Given the description of an element on the screen output the (x, y) to click on. 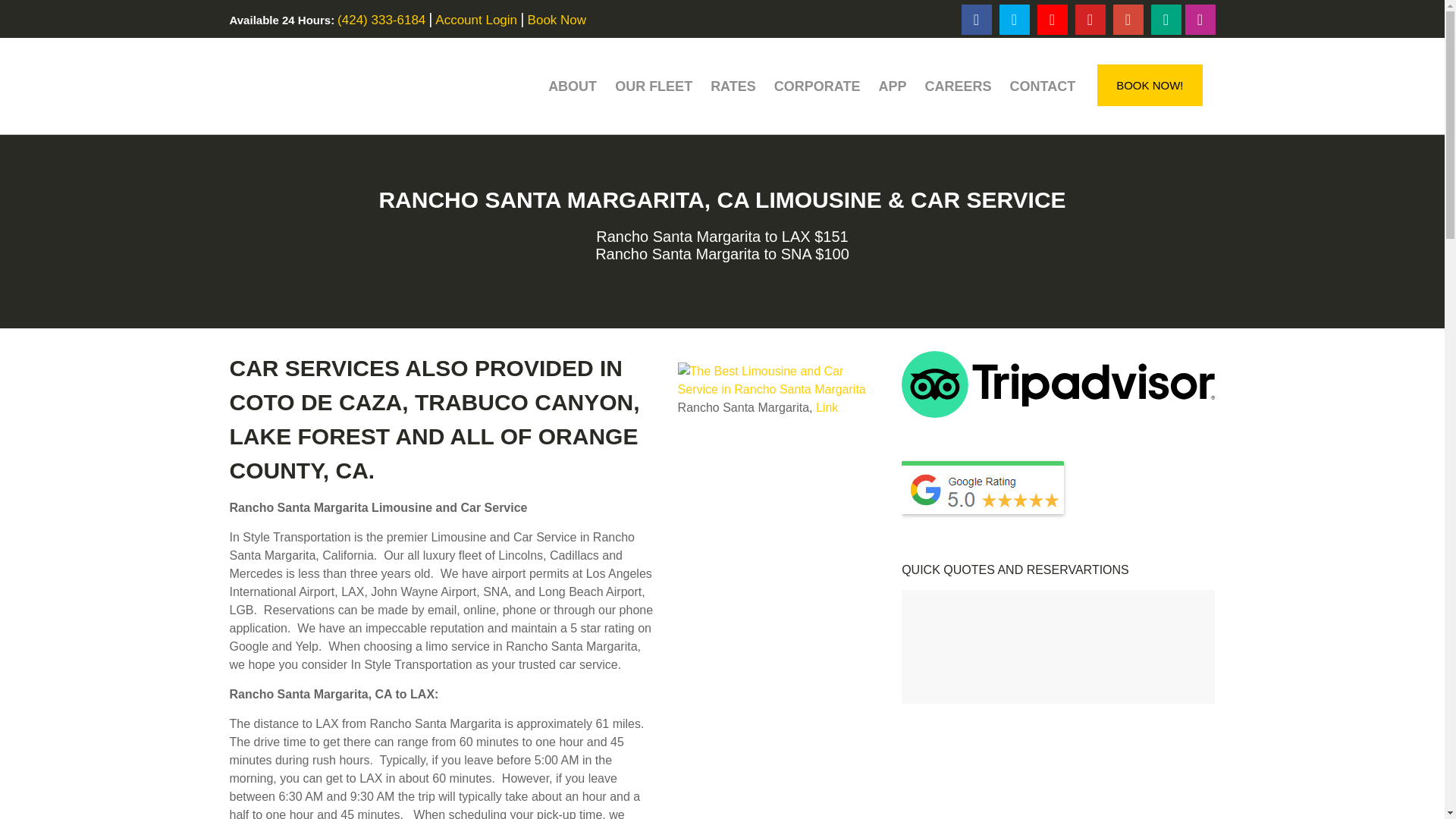
CAREERS (957, 86)
CORPORATE (817, 86)
Book Now (556, 20)
OUR FLEET (653, 86)
Account Login (475, 20)
BOOK NOW! (1149, 85)
